Given the description of an element on the screen output the (x, y) to click on. 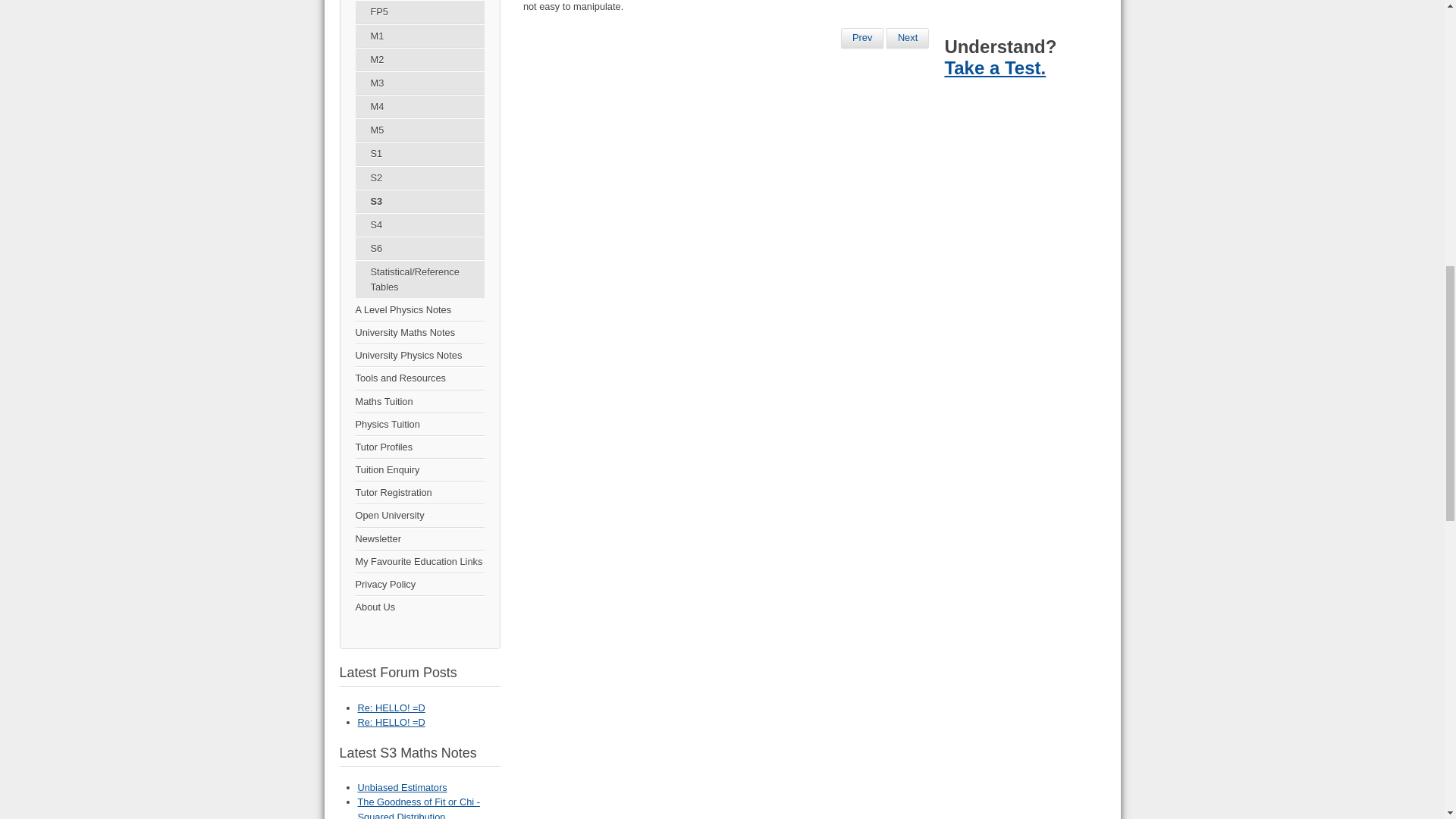
a level physics notes (419, 309)
university physics notes (419, 354)
Advertisement (1020, 11)
university maths notes (419, 332)
FP5 (419, 11)
Test Centre (994, 67)
